Given the description of an element on the screen output the (x, y) to click on. 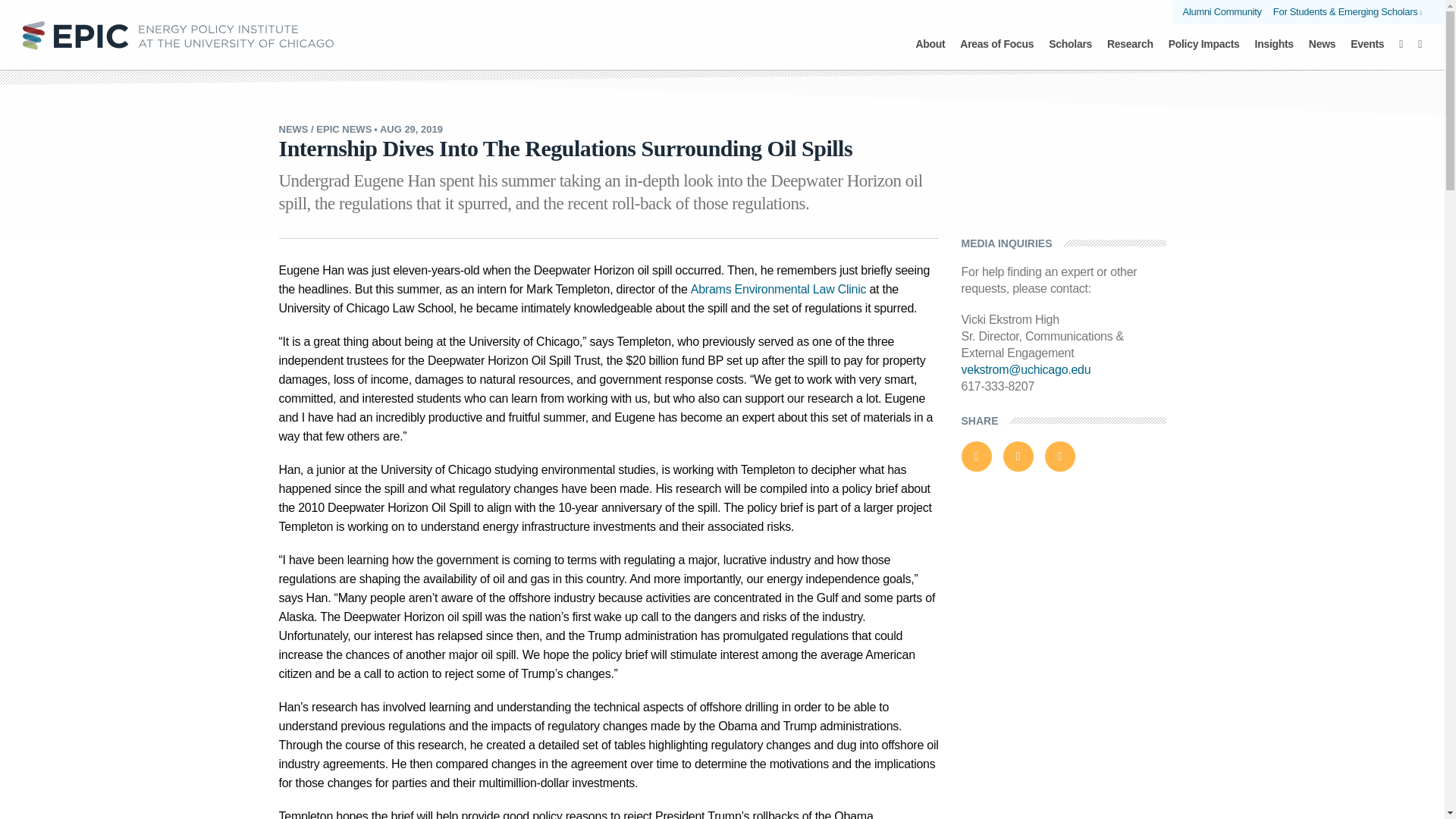
Contact (938, 38)
EPIC (178, 33)
Areas of Focus (996, 52)
Visiting Fellows (722, 38)
Abrams Environmental Law Clinic (721, 26)
Advisory Group (614, 38)
Research (1129, 52)
Scholars (1070, 52)
Our Team (518, 38)
